Given the description of an element on the screen output the (x, y) to click on. 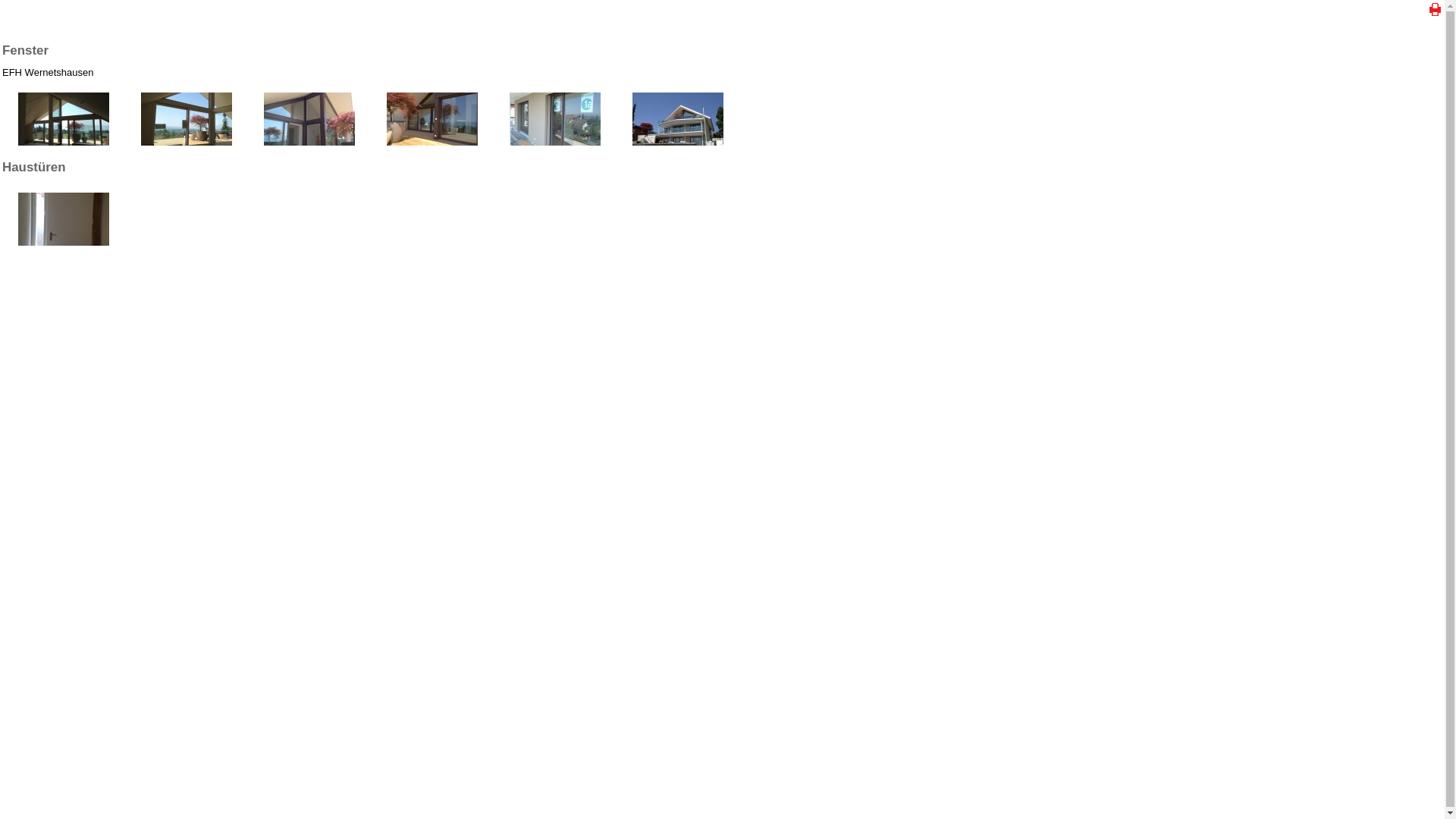
EFH Wernetshausen Element type: hover (677, 157)
EFH Wernetshausen Element type: hover (186, 157)
EFH Wernetshausen Element type: hover (63, 157)
EFH Wernetshausen Element type: hover (308, 157)
EFH Wernetshausen Element type: hover (431, 157)
EFH Wernetshausen Element type: hover (554, 157)
